Given the description of an element on the screen output the (x, y) to click on. 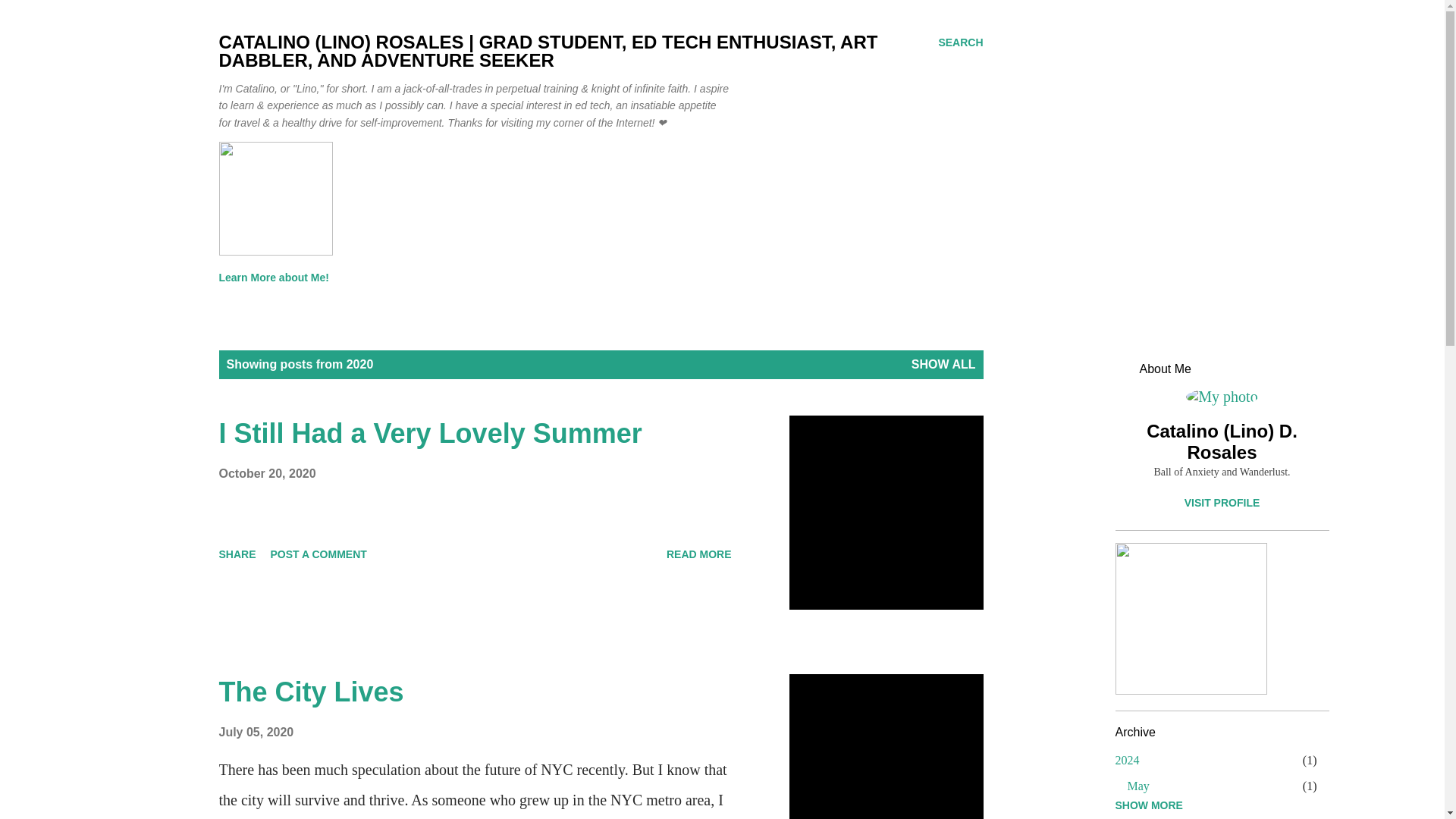
I Still Had a Very Lovely Summer (430, 432)
I Still Had a Very Lovely Summer (699, 554)
July 05, 2020 (256, 731)
Learn More about Me! (277, 277)
SHOW ALL (943, 364)
READ MORE (699, 554)
SHARE (237, 554)
SEARCH (959, 42)
October 20, 2020 (266, 472)
The City Lives (310, 691)
